Given the description of an element on the screen output the (x, y) to click on. 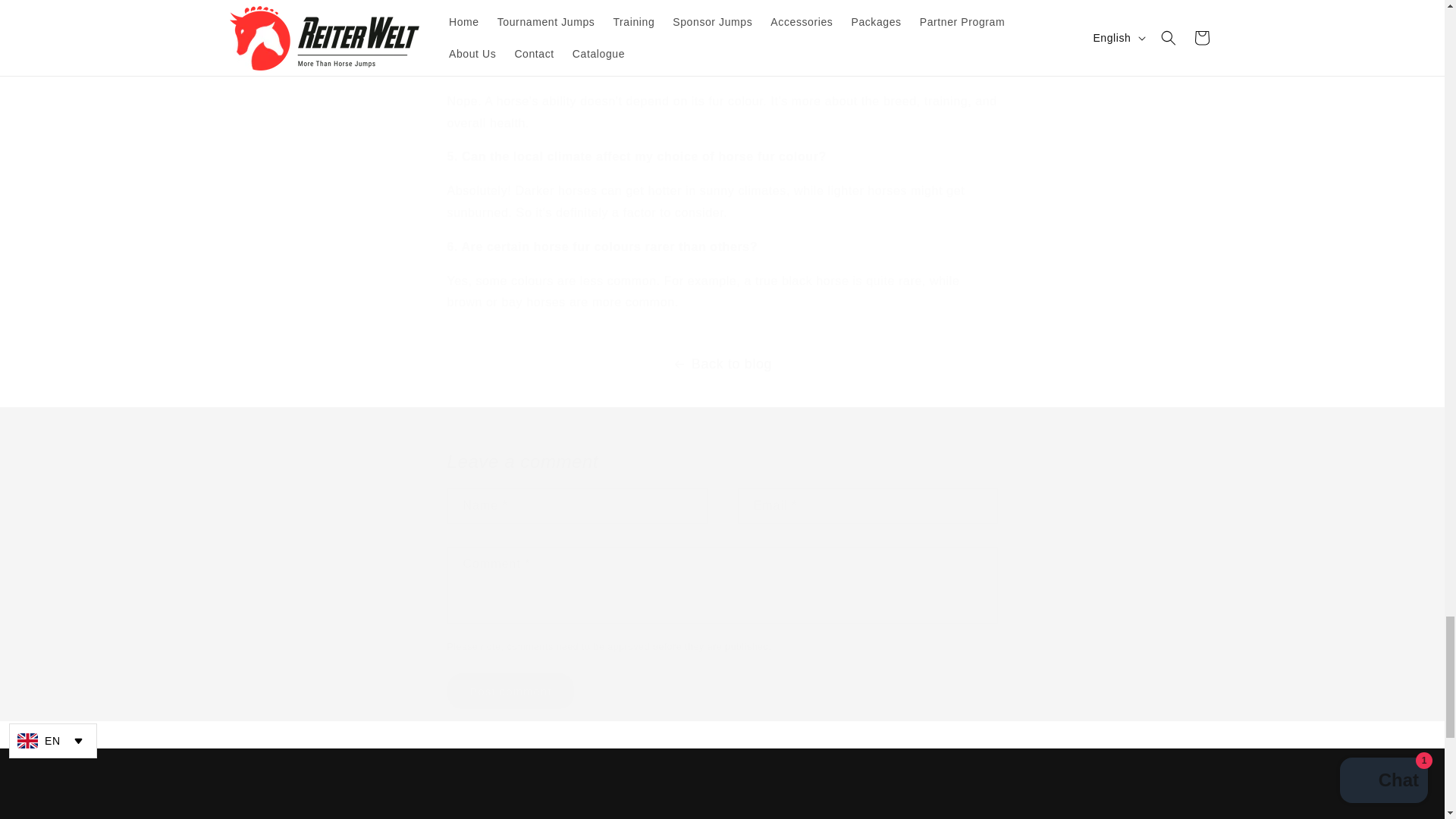
Post comment (510, 691)
